Given the description of an element on the screen output the (x, y) to click on. 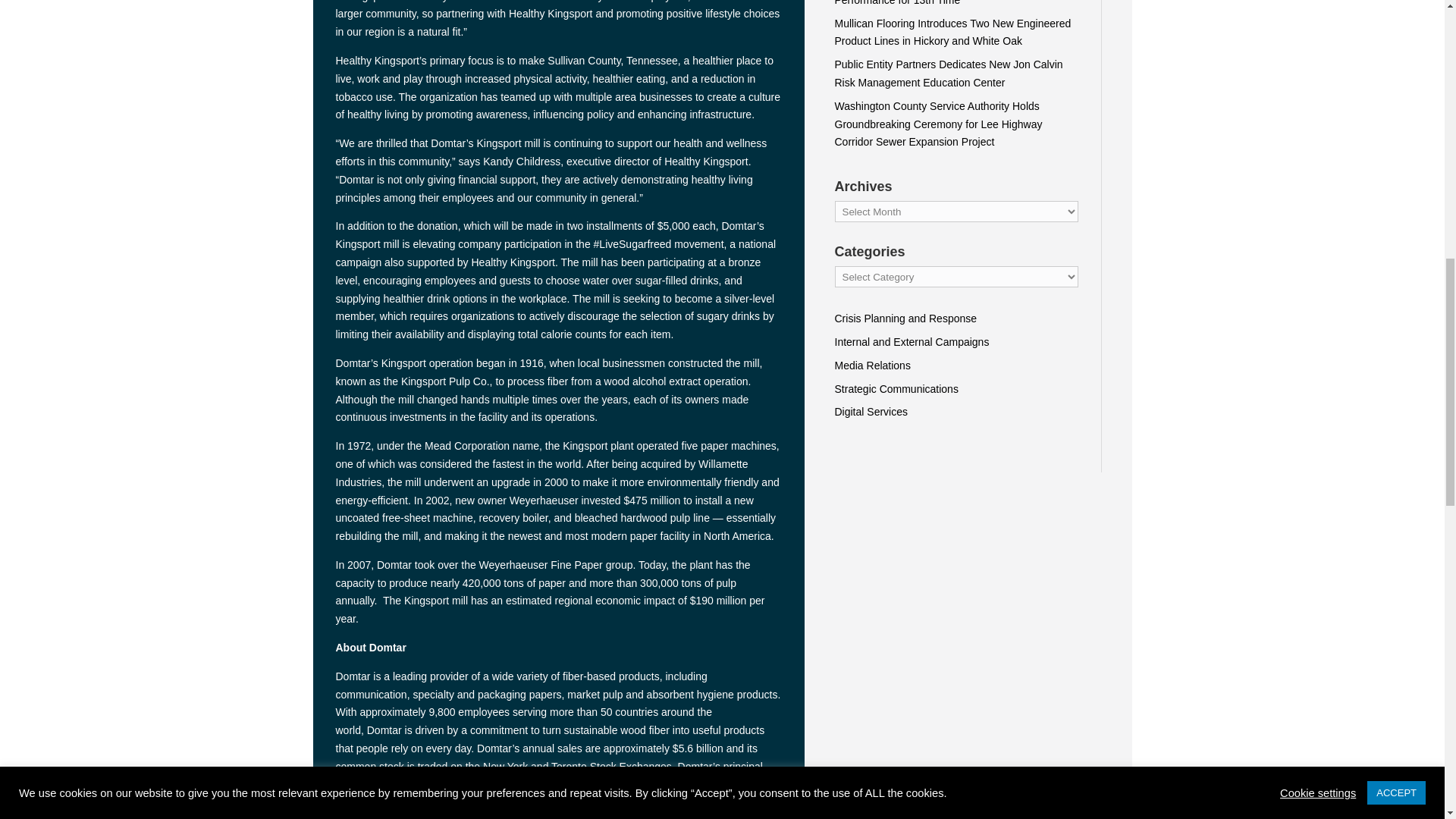
Strategic Communications (896, 388)
Digital Services (870, 411)
Crisis Planning and Response (905, 318)
Internal and External Campaigns (911, 341)
Media Relations (872, 365)
www.domtar.com (685, 784)
